Given the description of an element on the screen output the (x, y) to click on. 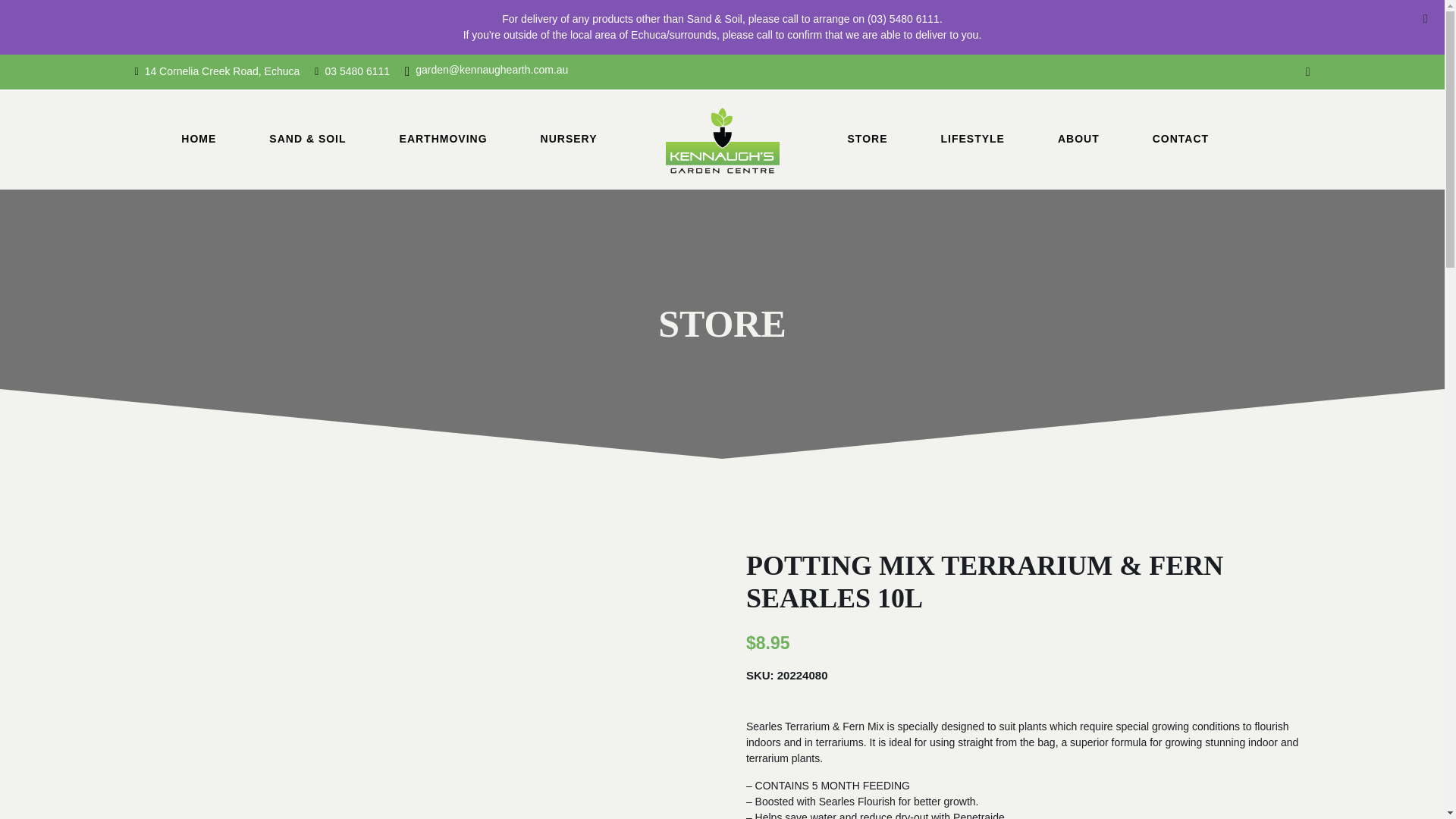
03 5480 6111 (352, 71)
EARTHMOVING (442, 139)
